Given the description of an element on the screen output the (x, y) to click on. 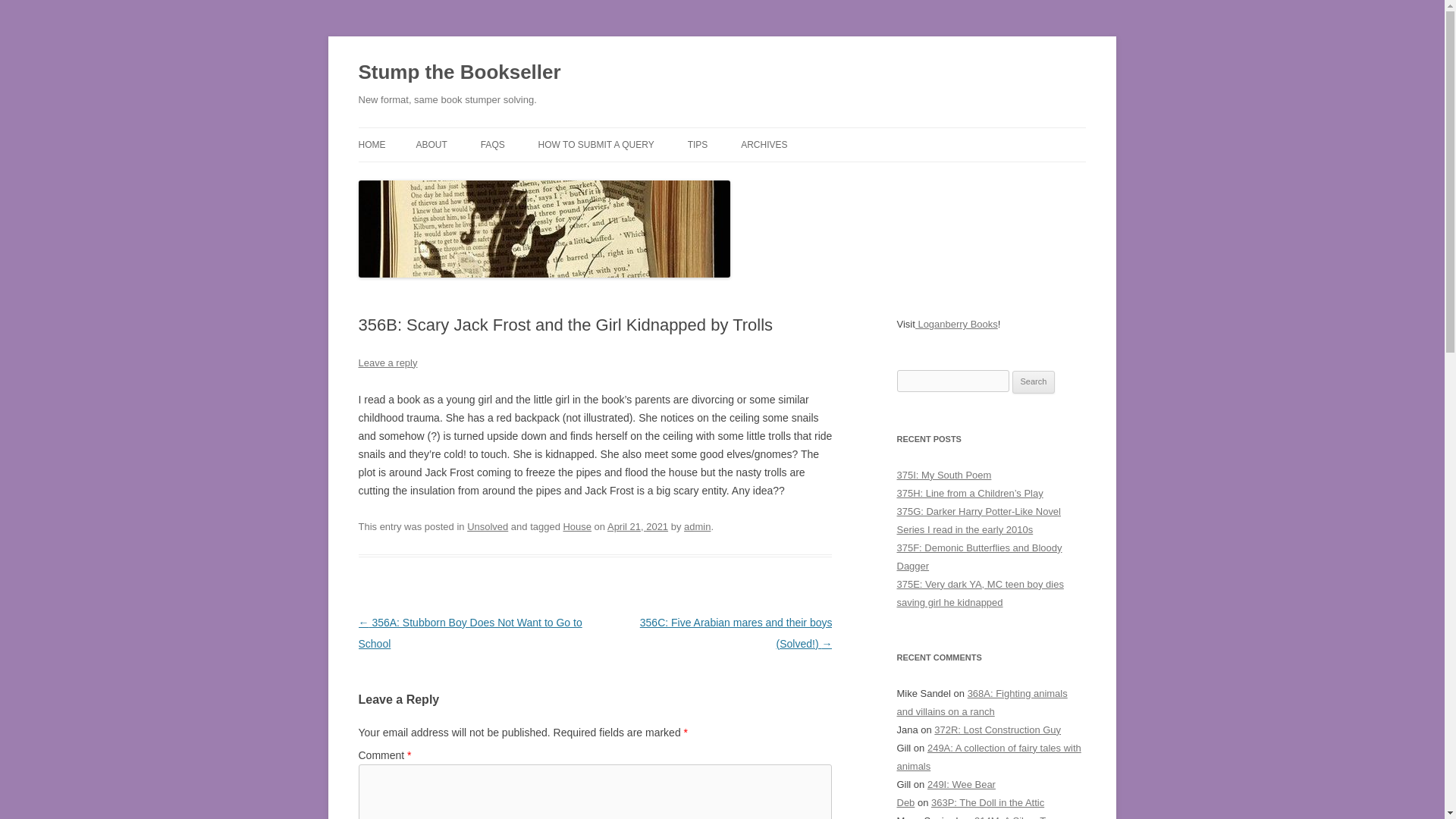
375F: Demonic Butterflies and Bloody Dagger (978, 556)
Loganberry Books (956, 324)
View all posts by admin (697, 526)
April 21, 2021 (637, 526)
House (576, 526)
Search (1033, 382)
372R: Lost Construction Guy (997, 729)
Unsolved (487, 526)
admin (697, 526)
